Given the description of an element on the screen output the (x, y) to click on. 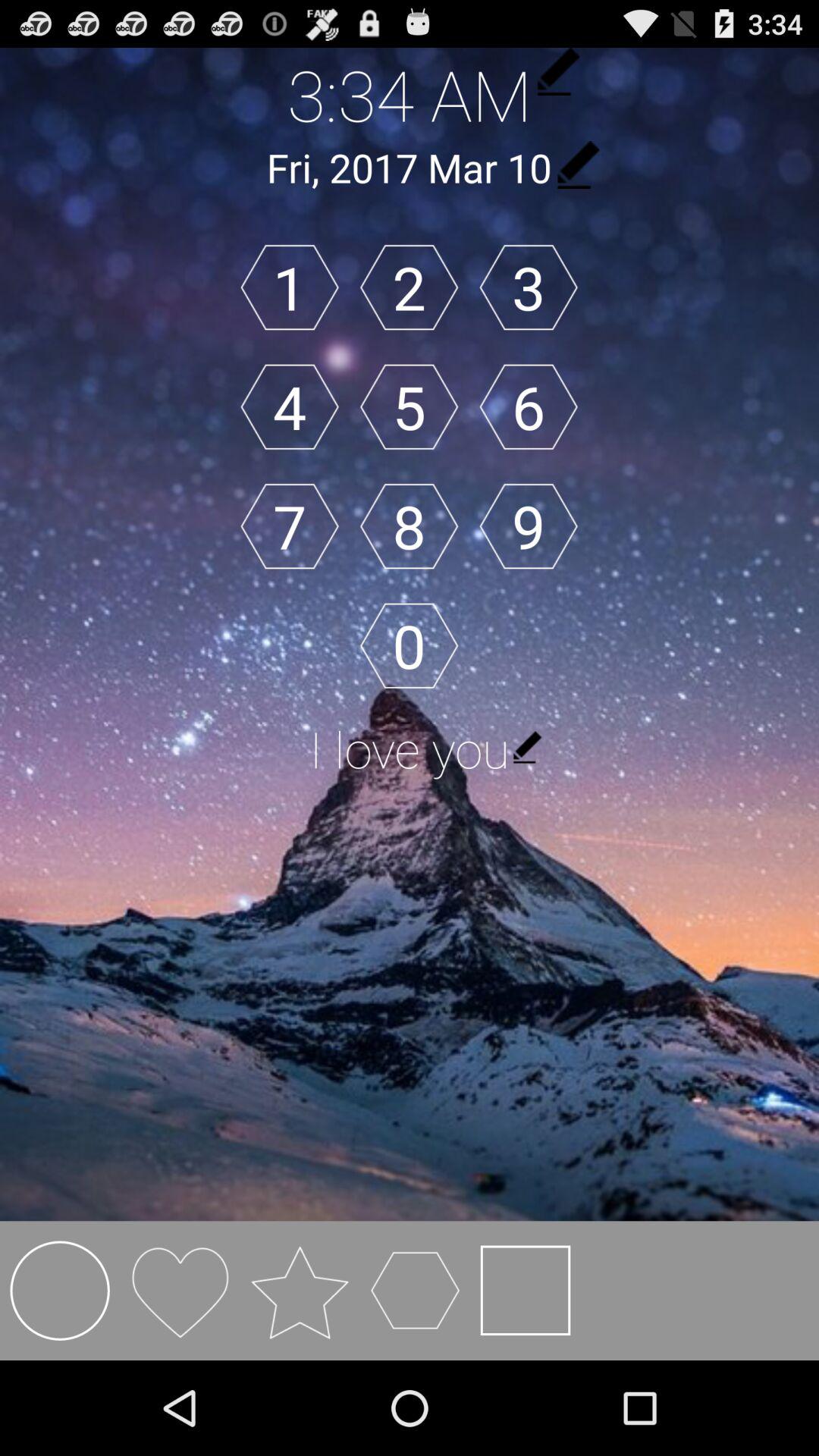
tap the icon above 0 (408, 526)
